Given the description of an element on the screen output the (x, y) to click on. 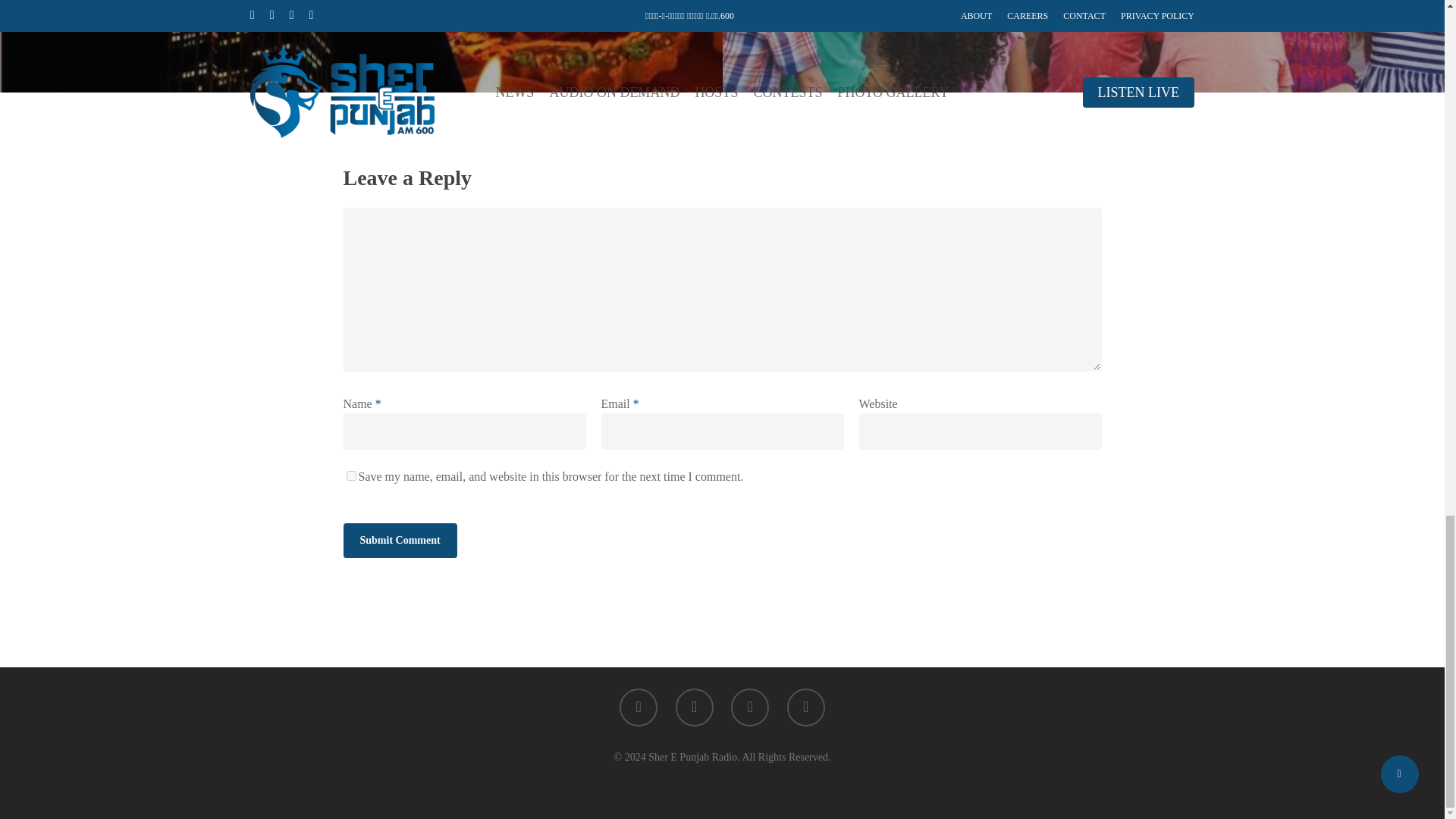
yes (350, 475)
Submit Comment (399, 540)
Submit Comment (399, 540)
